Given the description of an element on the screen output the (x, y) to click on. 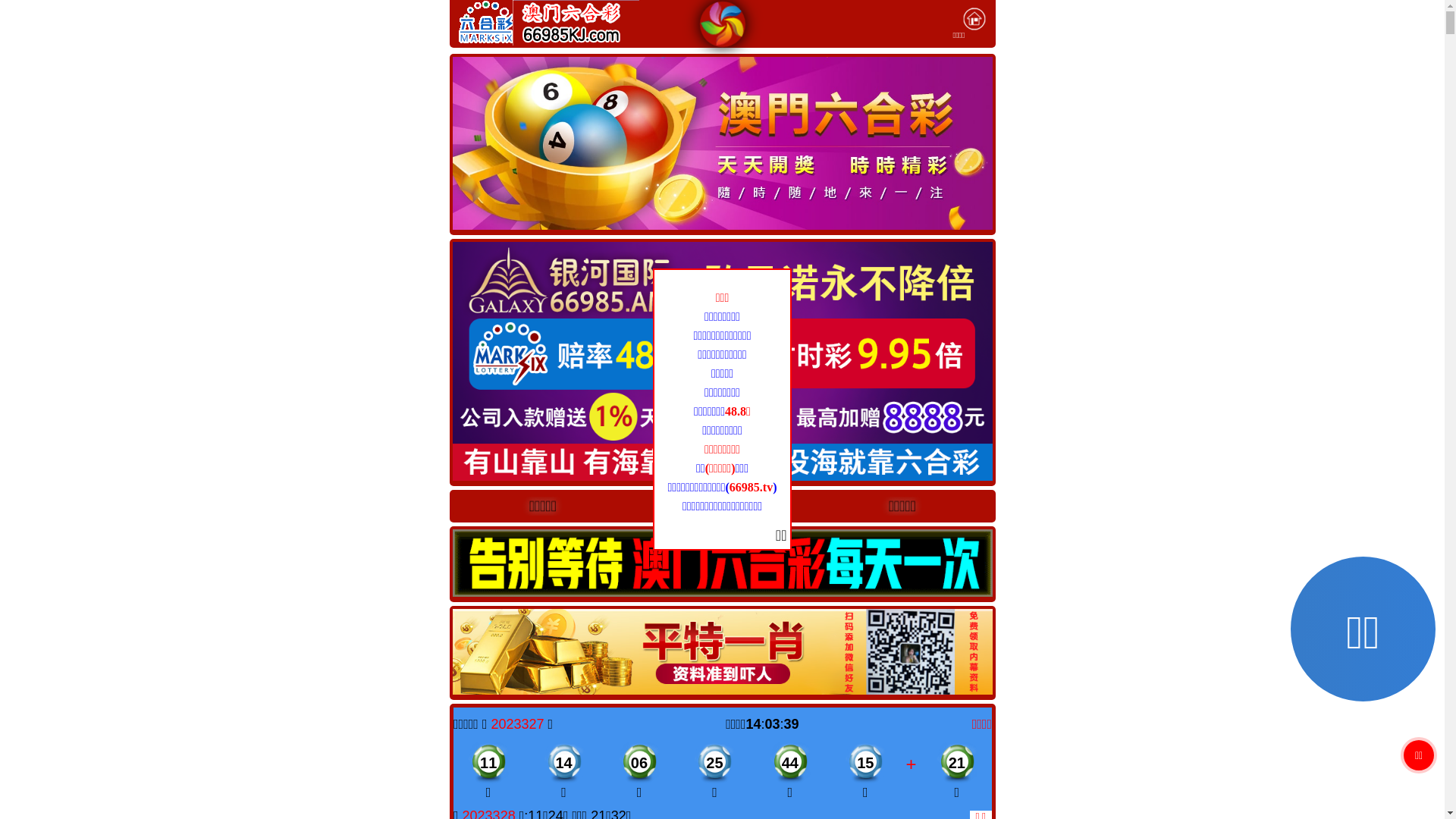
yhgj663.com Element type: text (721, 504)
